Given the description of an element on the screen output the (x, y) to click on. 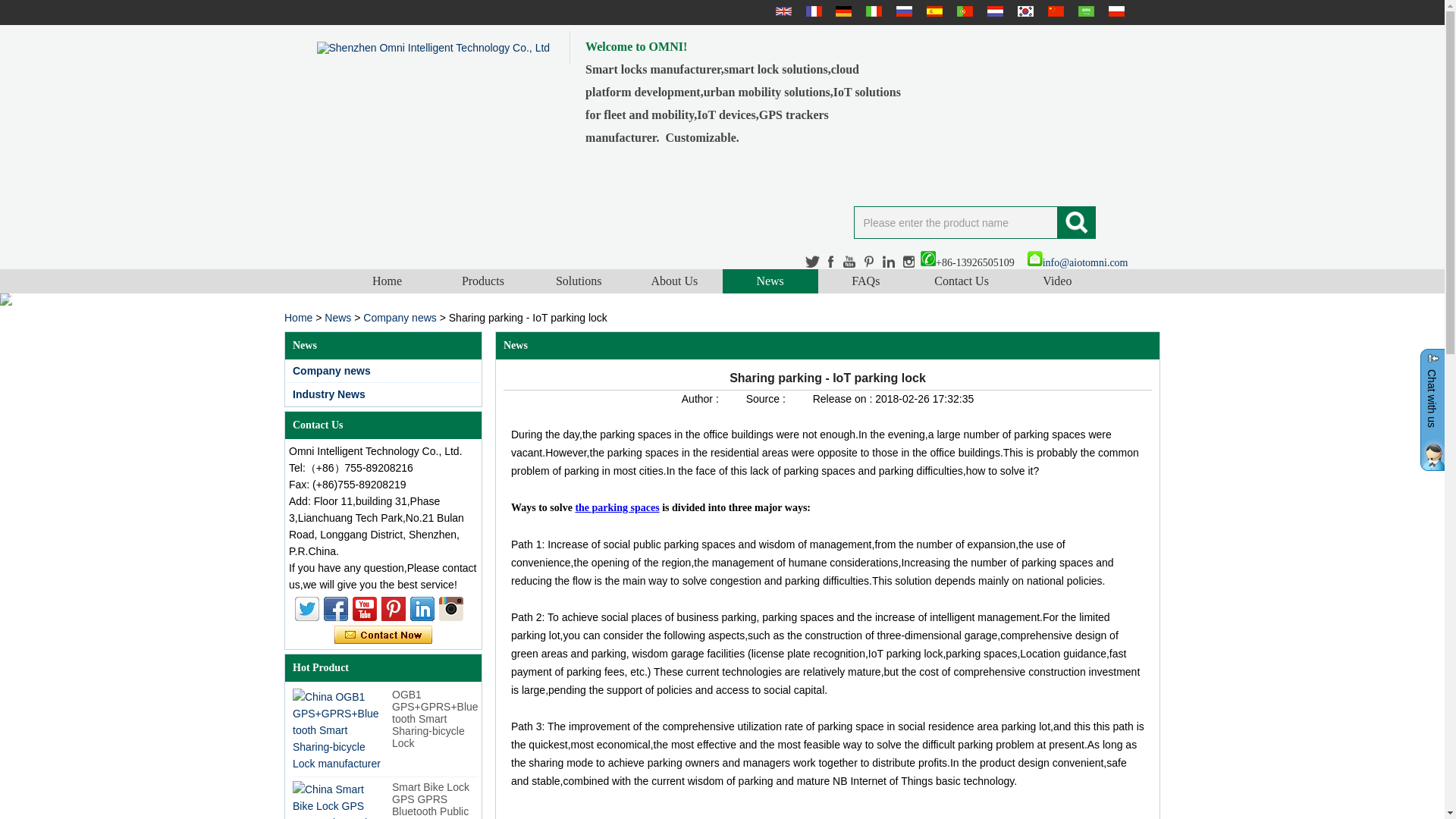
Please enter the product name (955, 222)
English (781, 10)
Products (483, 281)
Linkedln (888, 261)
Linkedln (421, 608)
Search (1075, 222)
Twitter (306, 608)
youtube (850, 261)
Facebook (335, 608)
